Given the description of an element on the screen output the (x, y) to click on. 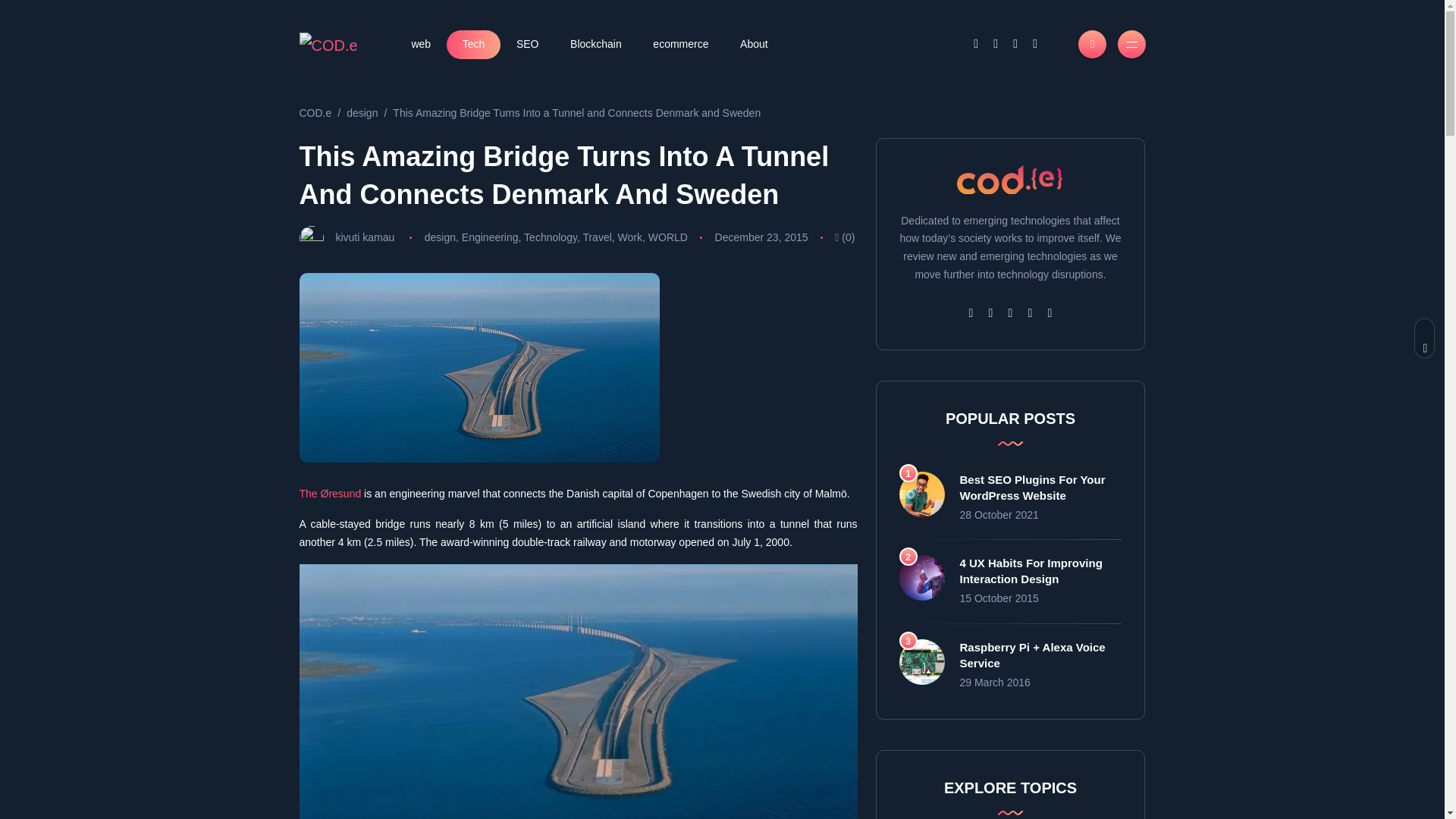
Posts by kivuti kamau (364, 236)
design (440, 236)
COD.e (314, 112)
Go to COD.e. (314, 112)
web (421, 44)
WORLD (667, 236)
ecommerce (681, 44)
Go to the design Category archives. (361, 112)
Engineering (489, 236)
About (753, 44)
